Given the description of an element on the screen output the (x, y) to click on. 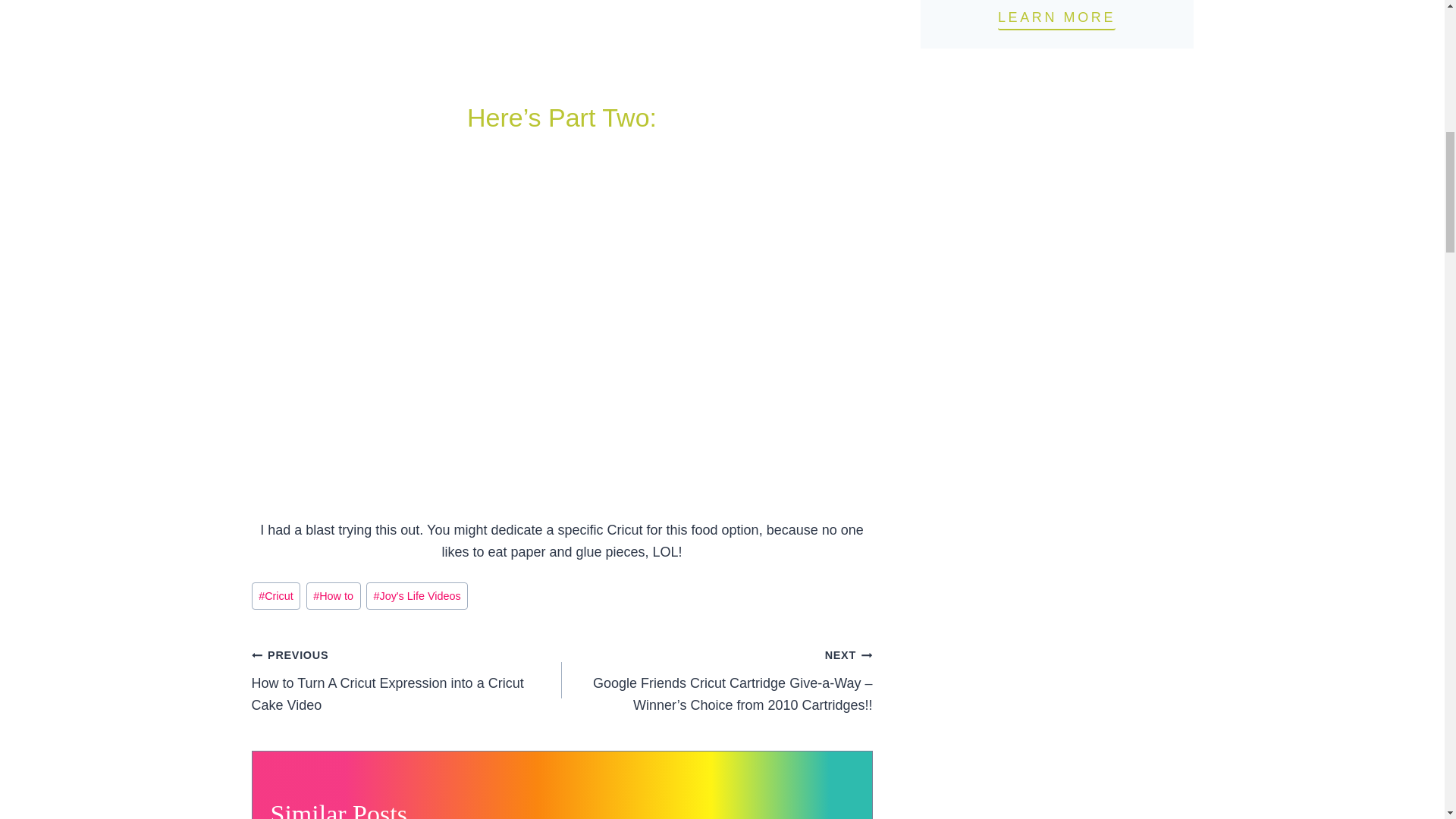
Cutting Gum Paste in a Cricut Expression Part ONE (561, 31)
Cricut (276, 596)
How to (333, 596)
Joy's Life Videos (417, 596)
